Given the description of an element on the screen output the (x, y) to click on. 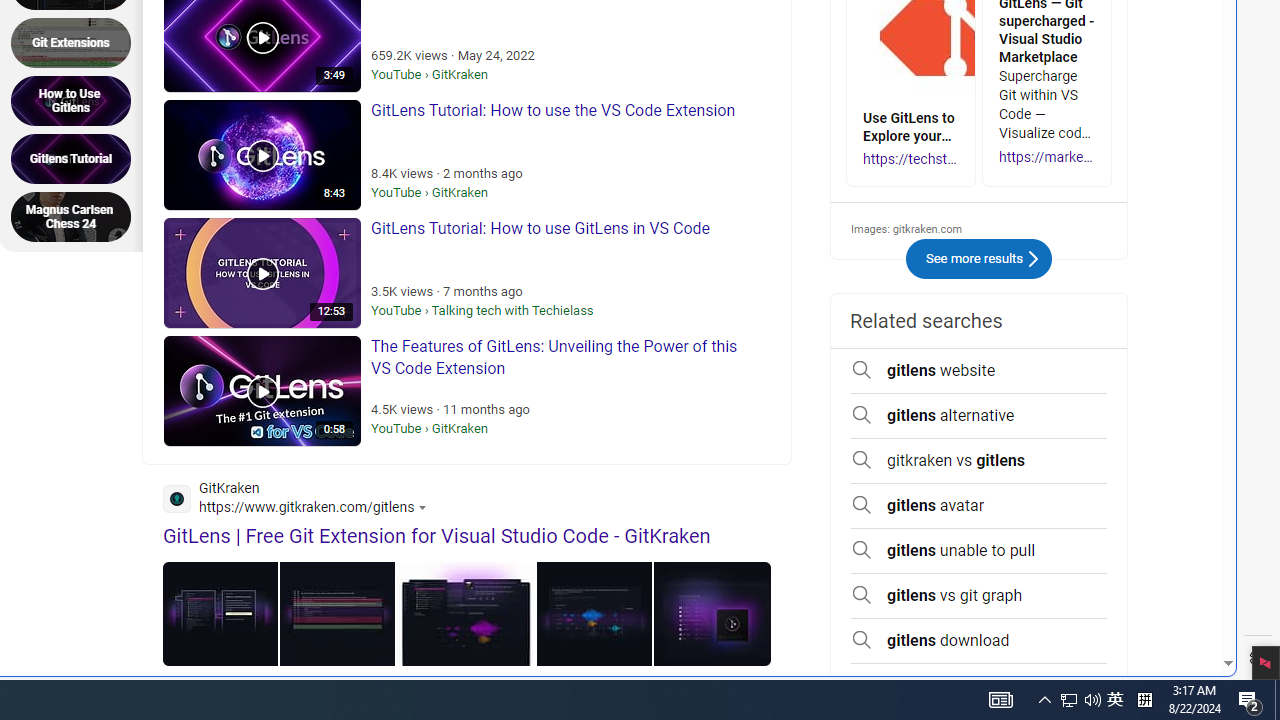
View details (712, 614)
Search more (1182, 604)
gitlens free alternative (979, 685)
gitlens alternative (979, 415)
gitlens vs git graph (979, 595)
Git Extensions (77, 42)
Images: gitkraken.com (979, 228)
Magnus Carlsen Chess 24 (77, 216)
See more results See more results (978, 259)
GitKraken (299, 501)
gitlens website (979, 371)
